Given the description of an element on the screen output the (x, y) to click on. 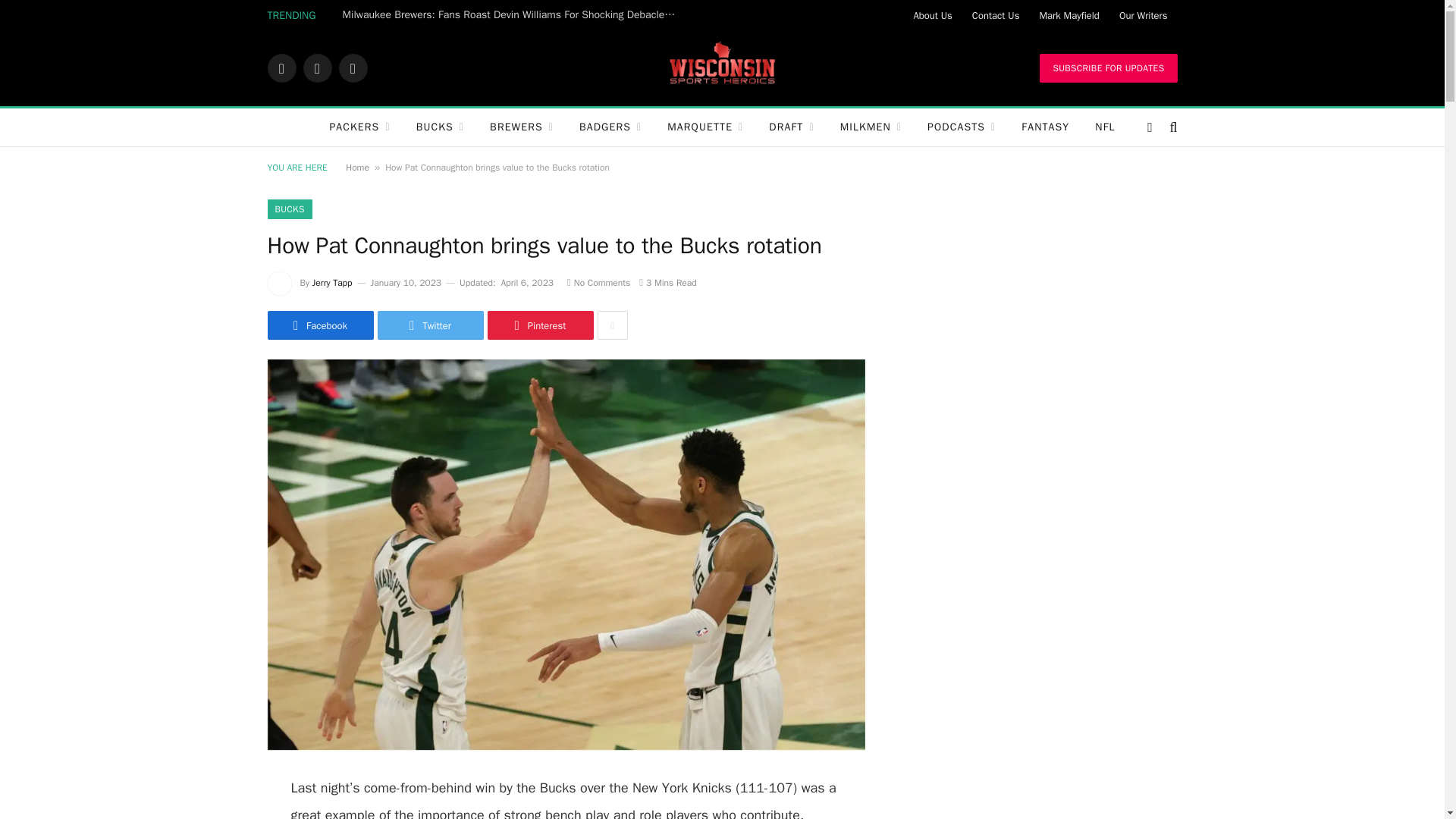
RSS (351, 68)
Our Writers (1143, 15)
Posts by Jerry Tapp (332, 282)
Switch to Dark Design - easier on eyes. (1149, 127)
Mark Mayfield (1068, 15)
WI Sports Heroics (721, 68)
Contact Us (995, 15)
PACKERS (359, 127)
About Us (931, 15)
SUBSCRIBE FOR UPDATES (1107, 68)
